Given the description of an element on the screen output the (x, y) to click on. 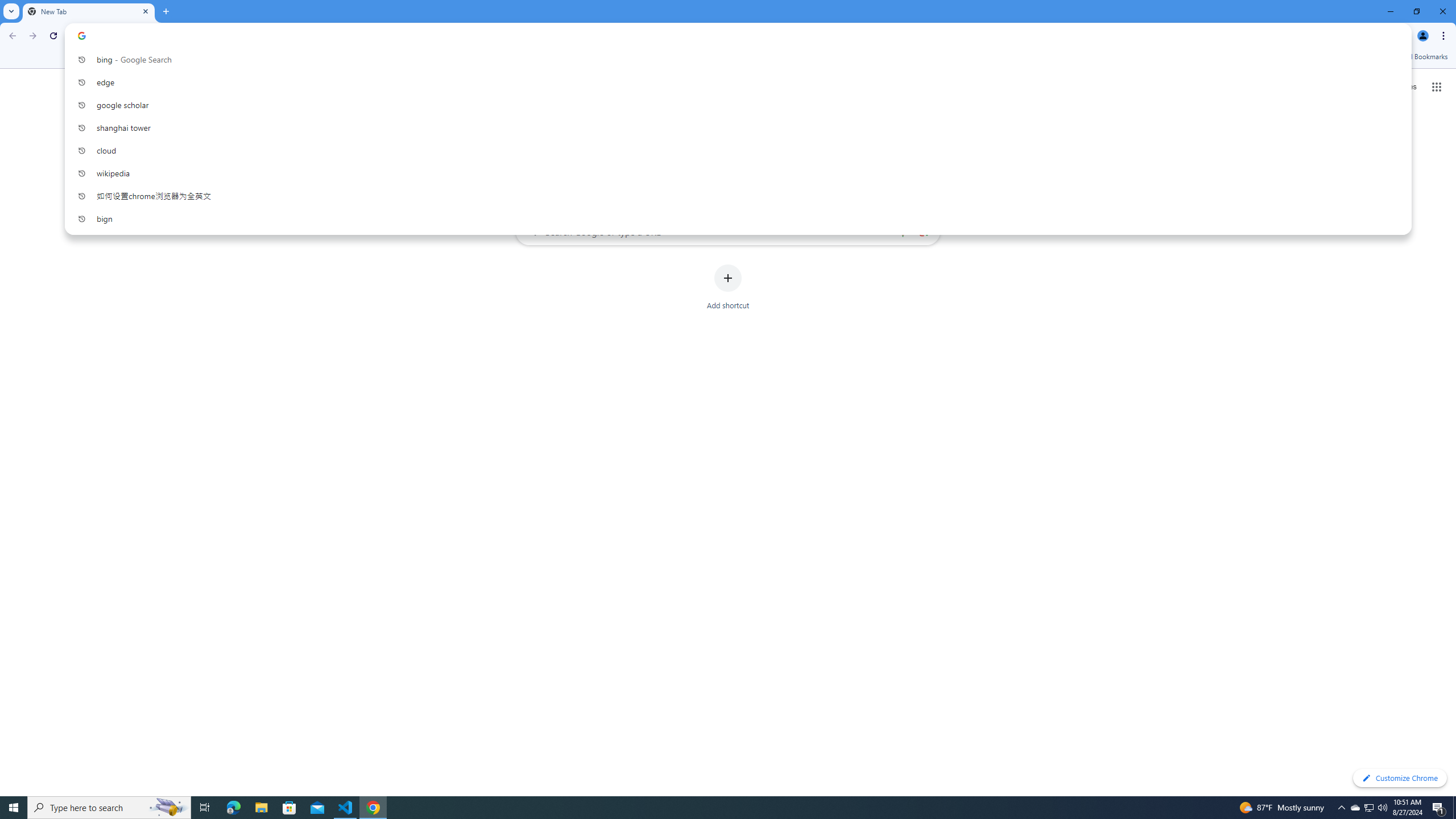
bing search from history (733, 59)
Address and search bar (746, 35)
Search by image (922, 230)
edge search from history (733, 82)
Search by voice (902, 230)
google scholar search from history (733, 105)
Customize Chrome (1399, 778)
